Given the description of an element on the screen output the (x, y) to click on. 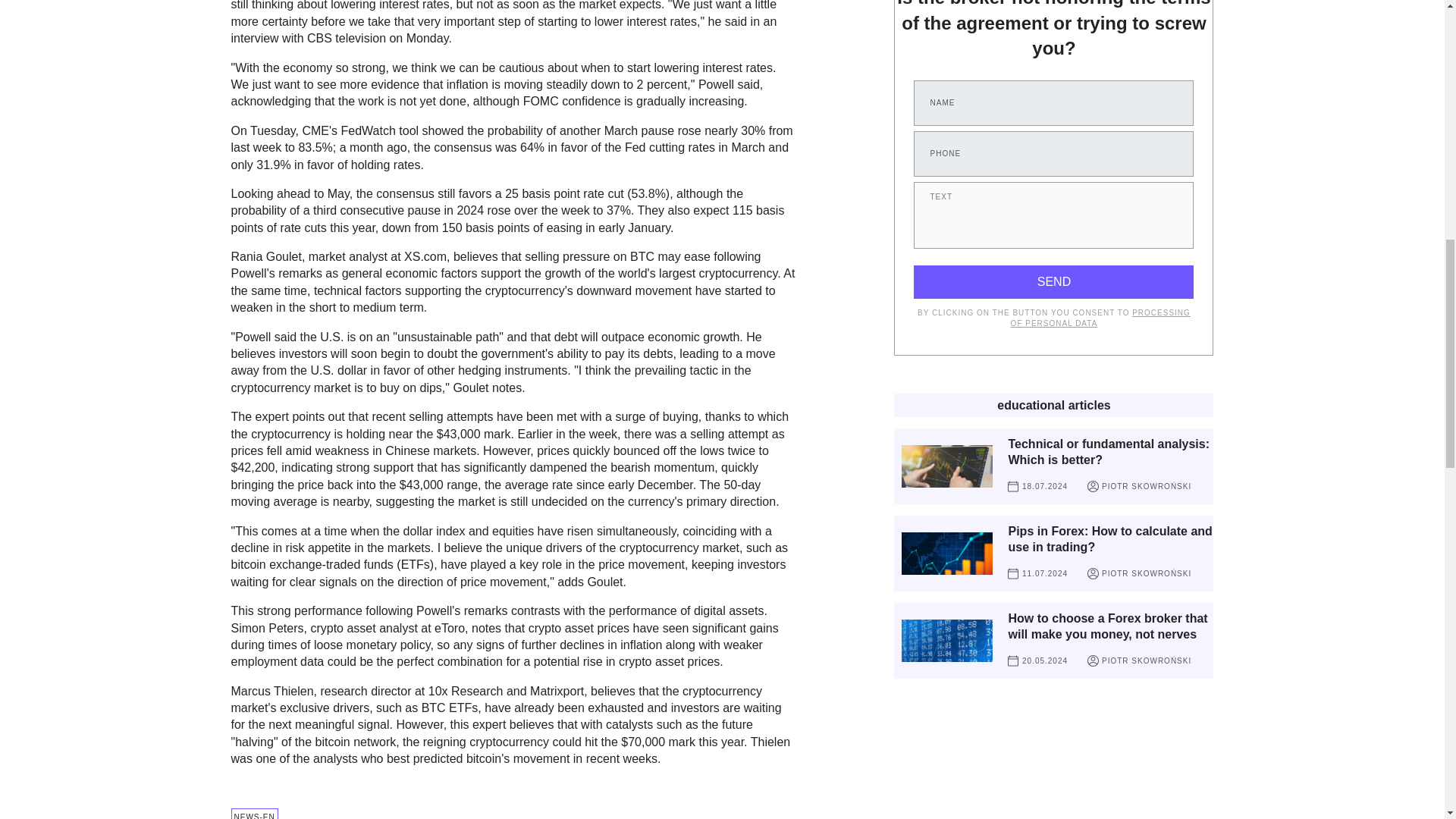
Send (1053, 281)
What are pips in forex trading and what are they for? (946, 553)
cal-icon (1012, 573)
profile-icon (1093, 573)
cal-icon (1012, 486)
NEWS-EN (254, 813)
Types of Analysis in Trading: Technical or Fundamental? (946, 465)
PROCESSING OF PERSONAL DATA (1100, 317)
profile-icon (1093, 486)
Send (1053, 281)
